Given the description of an element on the screen output the (x, y) to click on. 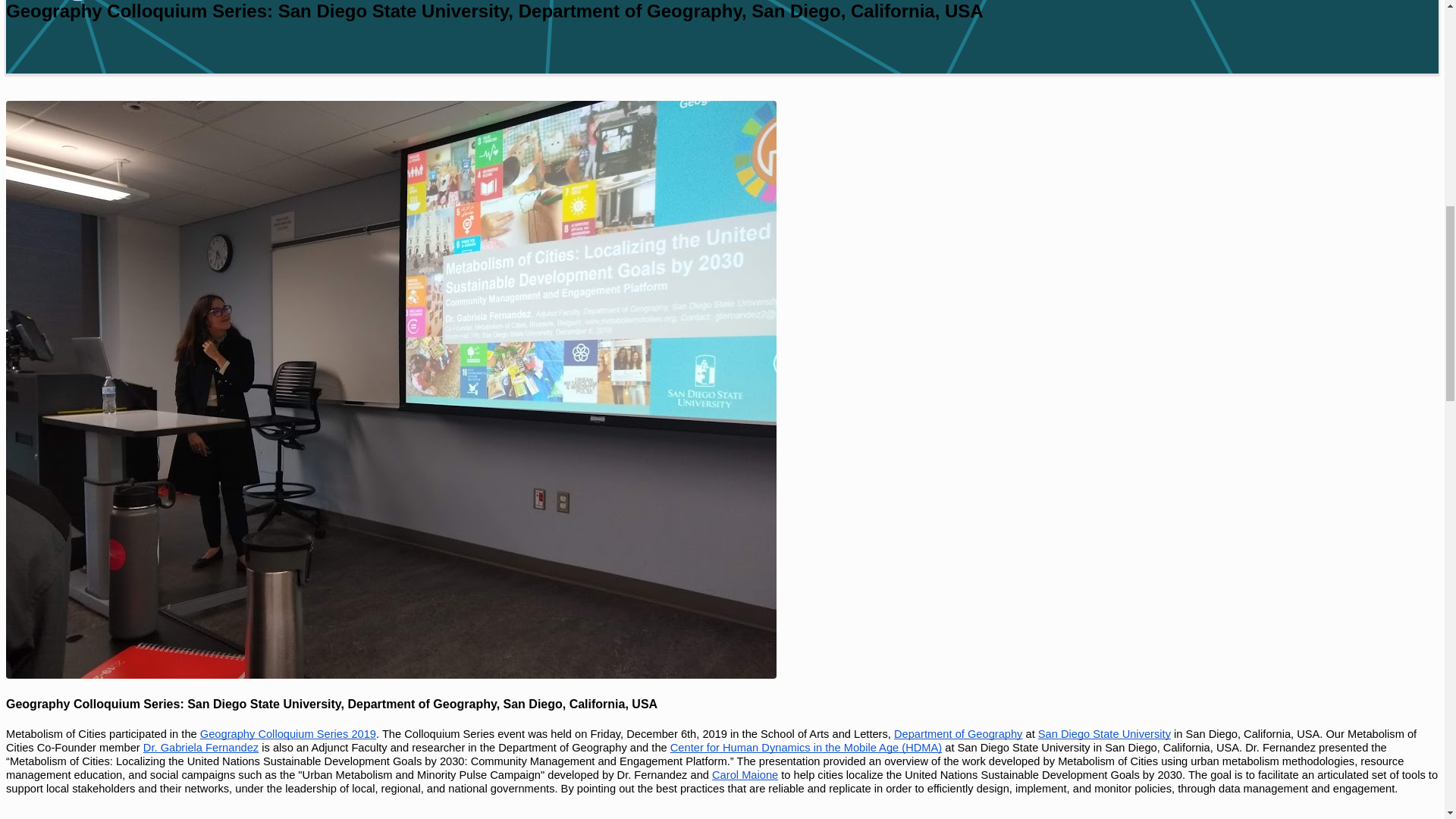
Department of Geography (957, 733)
Geography Colloquium Series 2019 (287, 733)
Carol Maione (744, 775)
San Diego State University (1104, 733)
Dr. Gabriela Fernandez (200, 747)
